Given the description of an element on the screen output the (x, y) to click on. 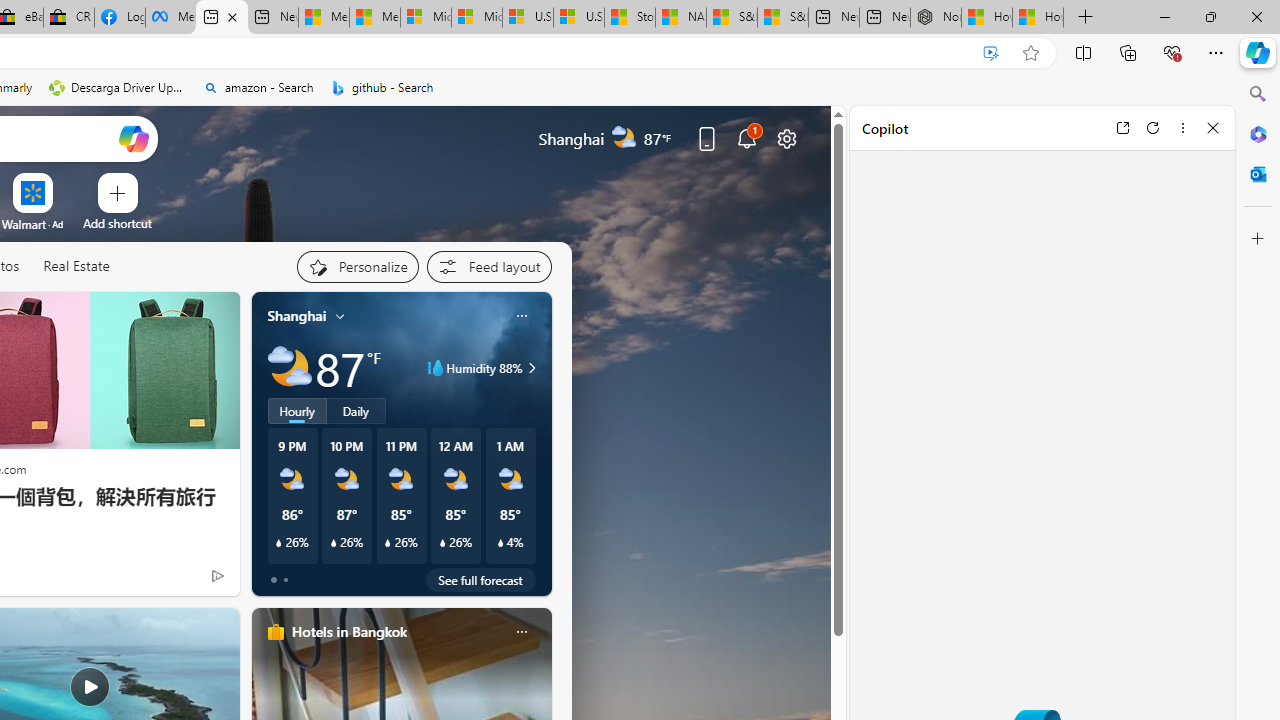
Open link in new tab (1122, 127)
Notifications (746, 138)
Page settings (786, 138)
Class: weather-current-precipitation-glyph (500, 543)
Real Estate (75, 267)
Close (1213, 127)
Meta Store (170, 17)
Split screen (1083, 52)
Hotels in Bangkok (348, 631)
Open Copilot (132, 138)
Enhance video (991, 53)
